Given the description of an element on the screen output the (x, y) to click on. 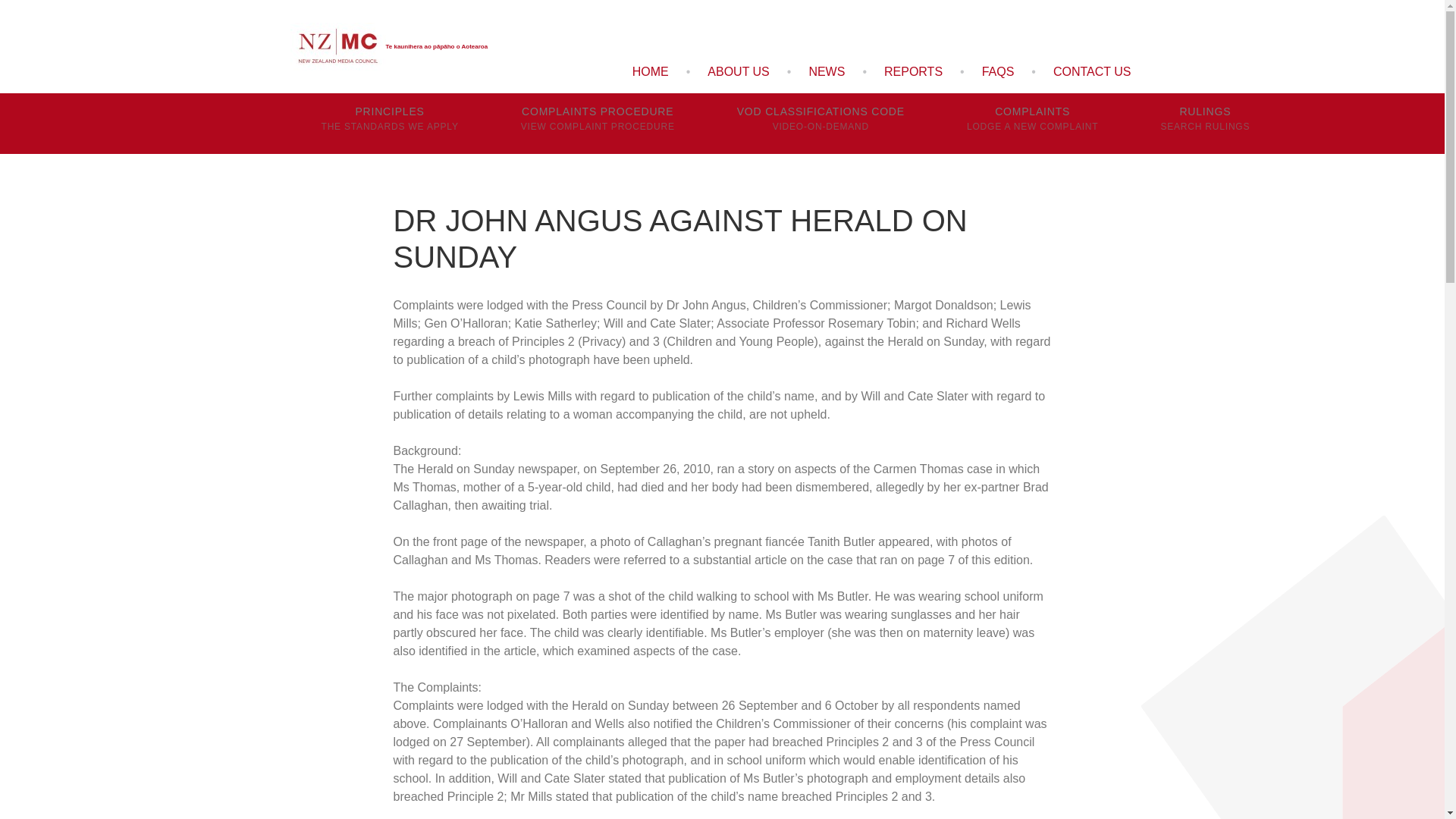
Frequently Asked Questions (998, 71)
HOME (650, 71)
back to homepage (650, 71)
REPORTS (389, 123)
ABOUT US (912, 71)
News (820, 123)
CONTACT US (737, 71)
NEWS (826, 71)
Reports (1092, 71)
About (1204, 123)
